Given the description of an element on the screen output the (x, y) to click on. 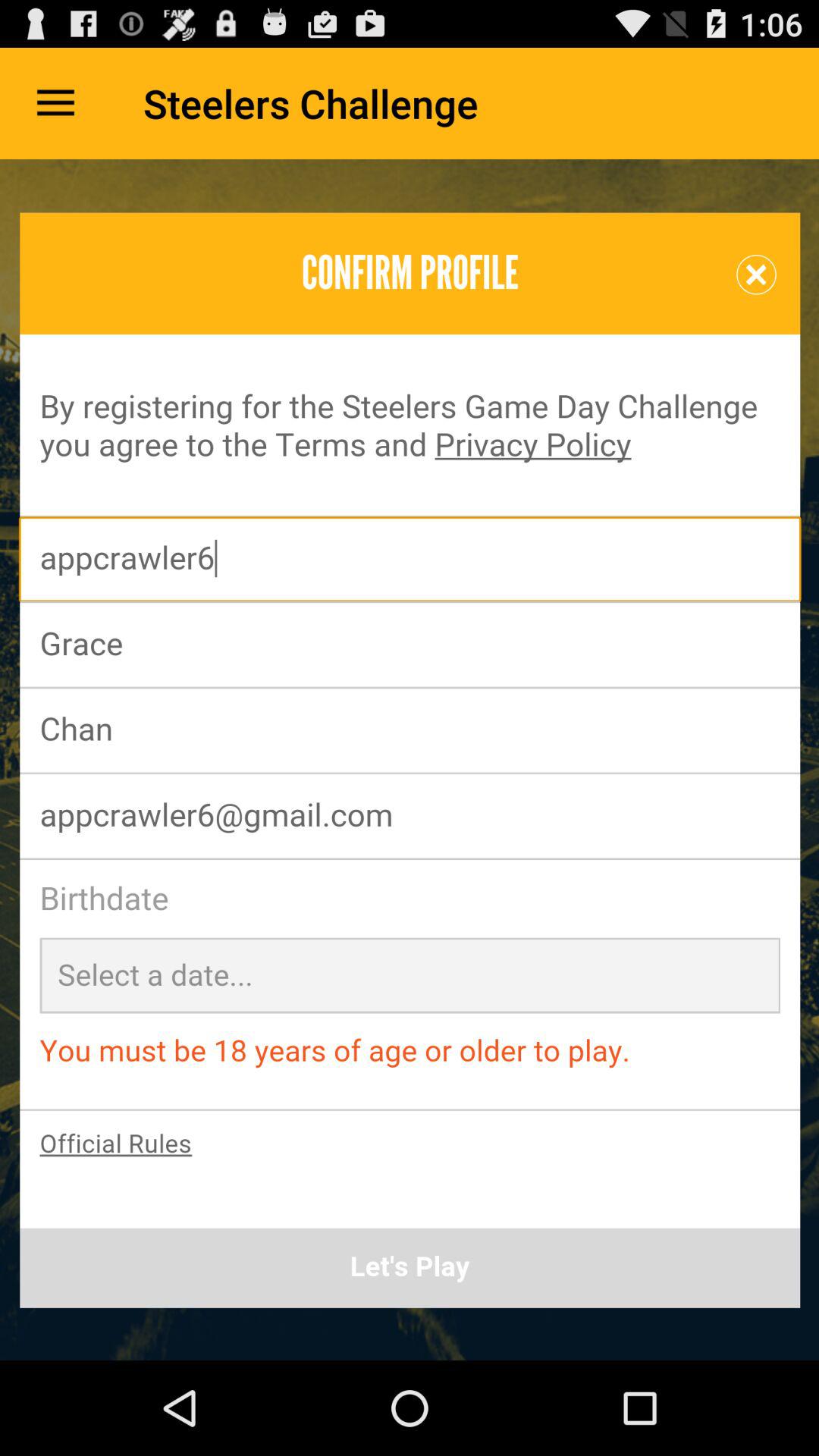
go to open (409, 759)
